Given the description of an element on the screen output the (x, y) to click on. 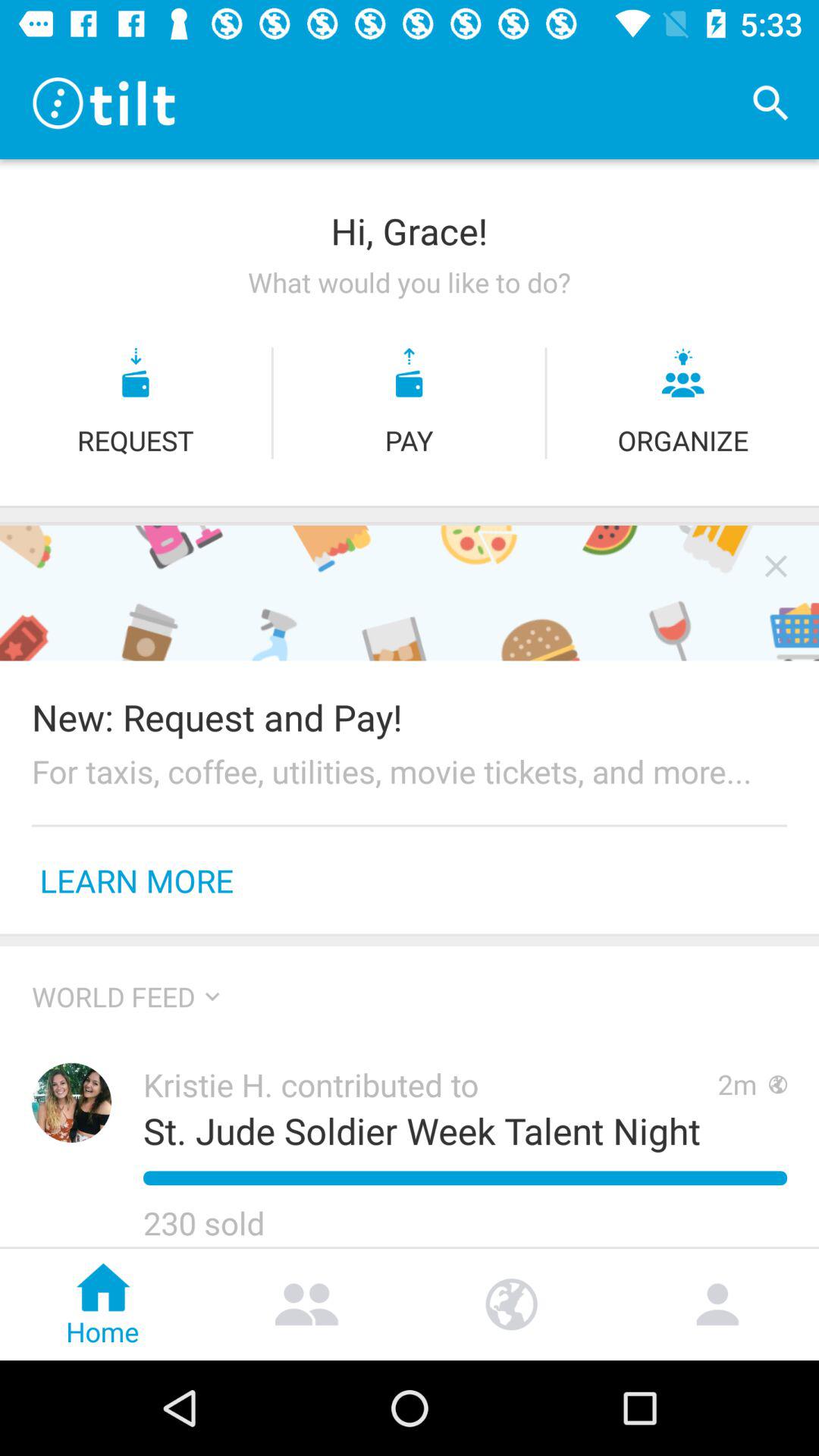
flip until the for taxis coffee item (409, 770)
